Given the description of an element on the screen output the (x, y) to click on. 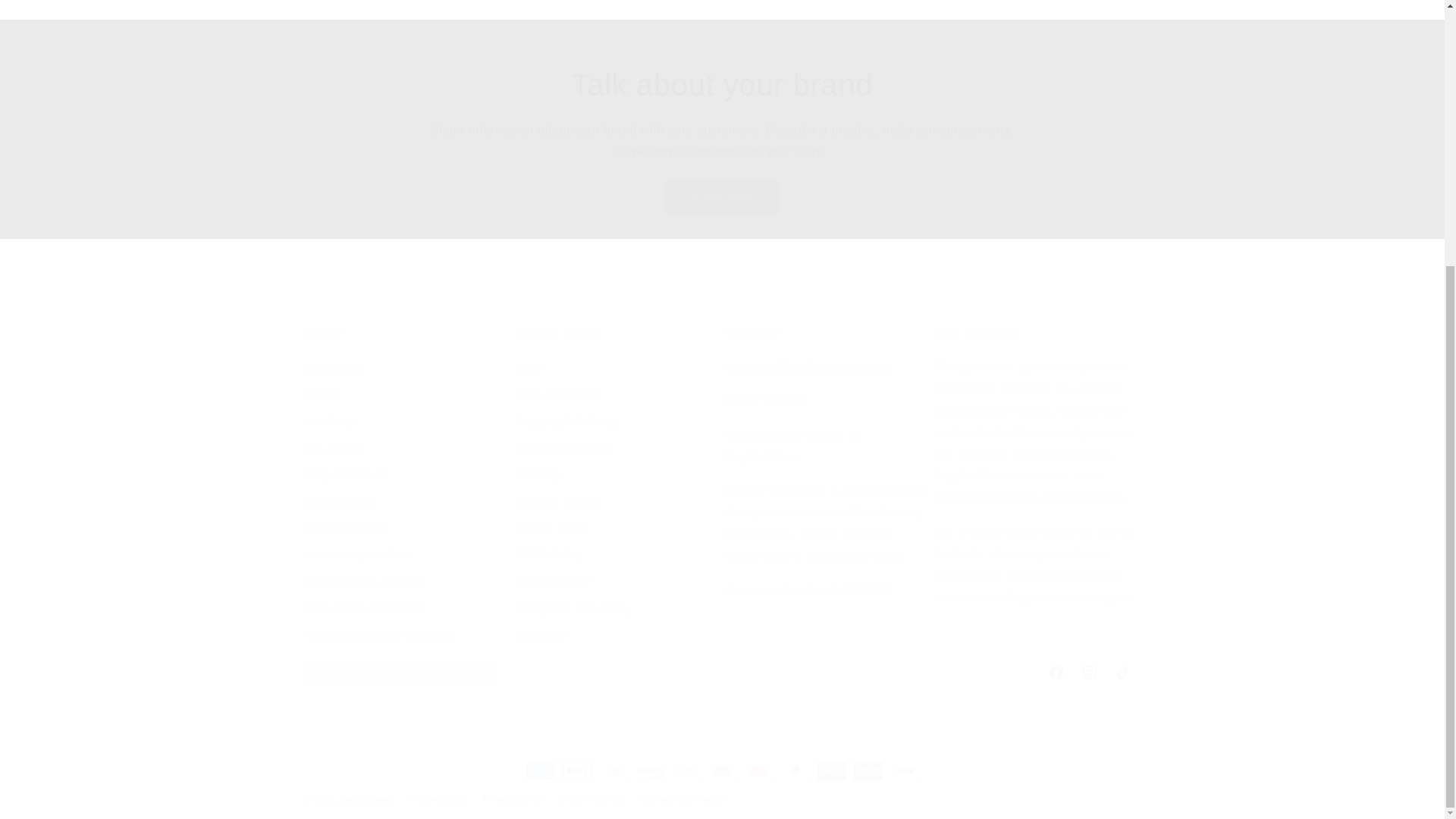
Button label (722, 196)
tel:01582 858934 (766, 400)
Talk about your brand (721, 672)
